Given the description of an element on the screen output the (x, y) to click on. 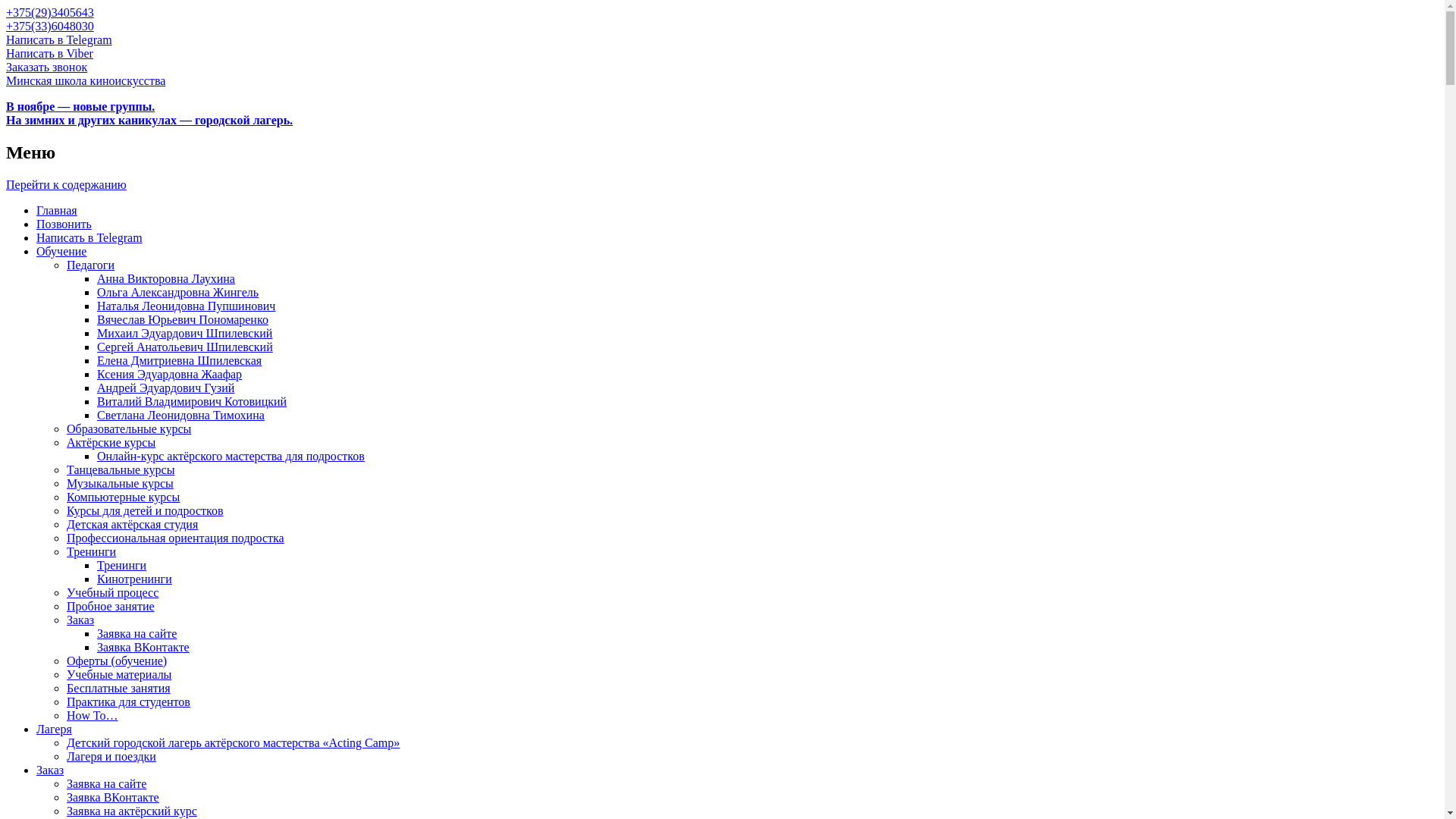
+375(33)6048030 Element type: text (50, 25)
+375(29)3405643 Element type: text (50, 12)
